Given the description of an element on the screen output the (x, y) to click on. 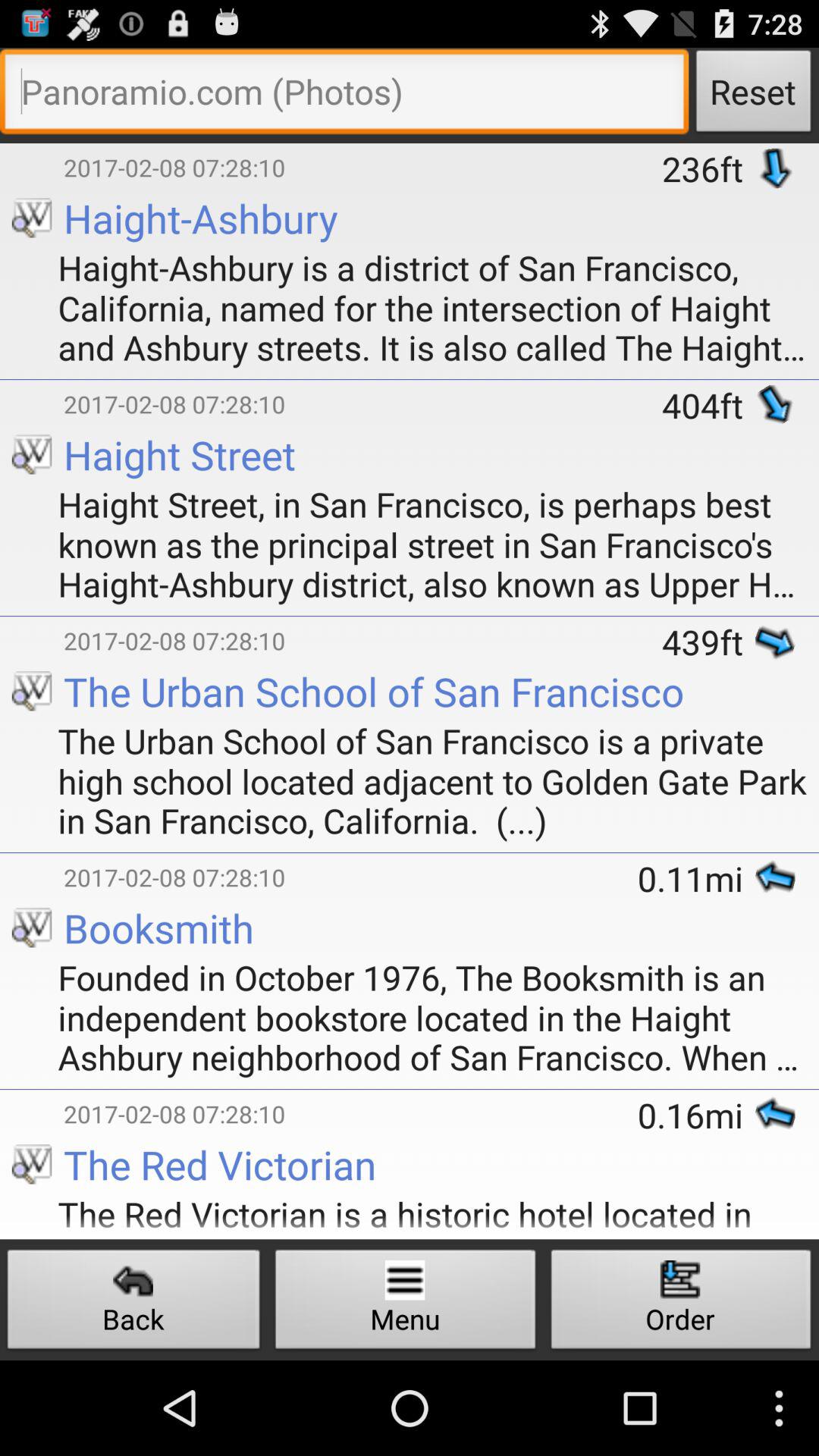
open the icon below the haight street in (31, 618)
